Given the description of an element on the screen output the (x, y) to click on. 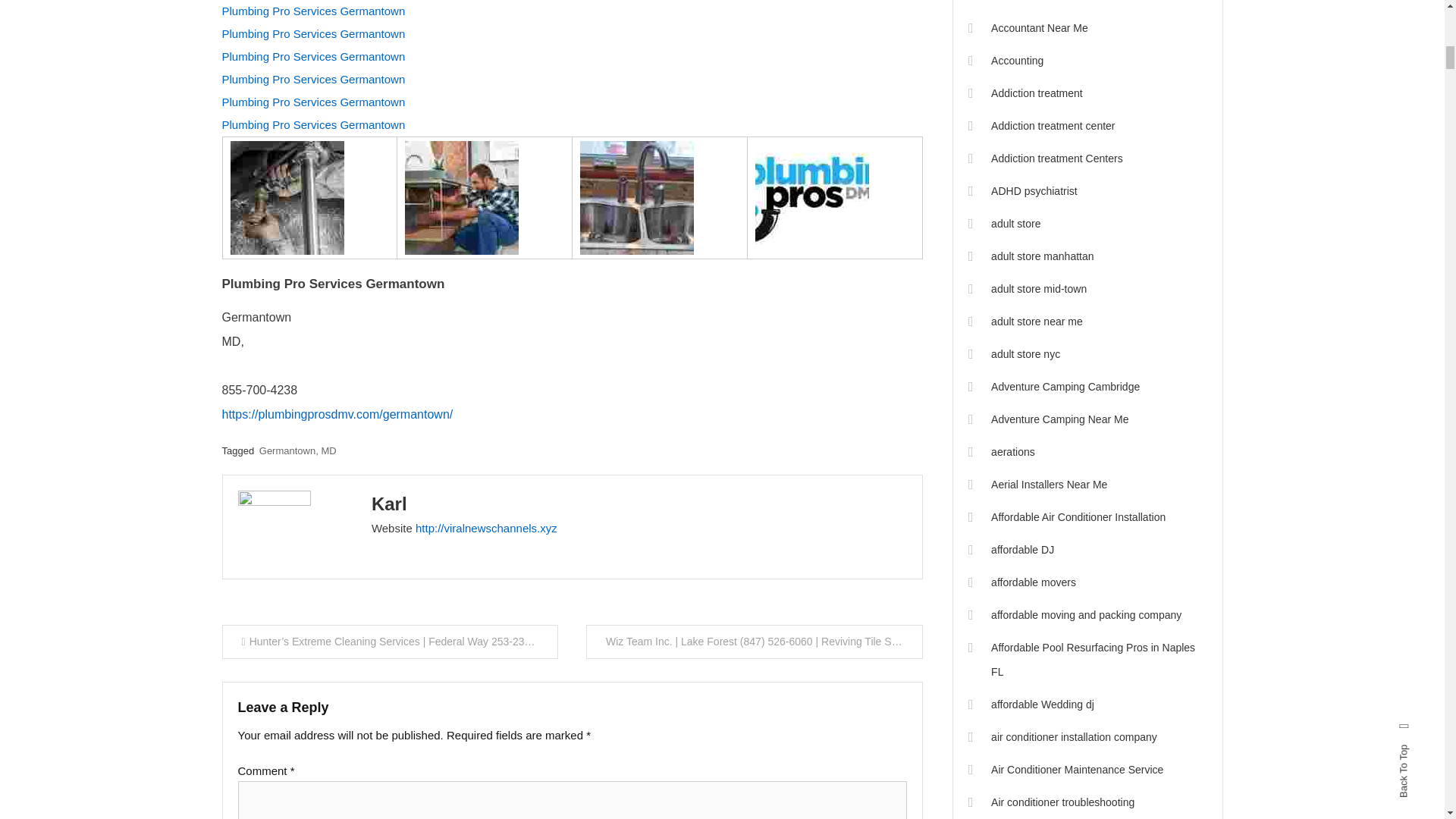
Posts by Karl (389, 503)
